Given the description of an element on the screen output the (x, y) to click on. 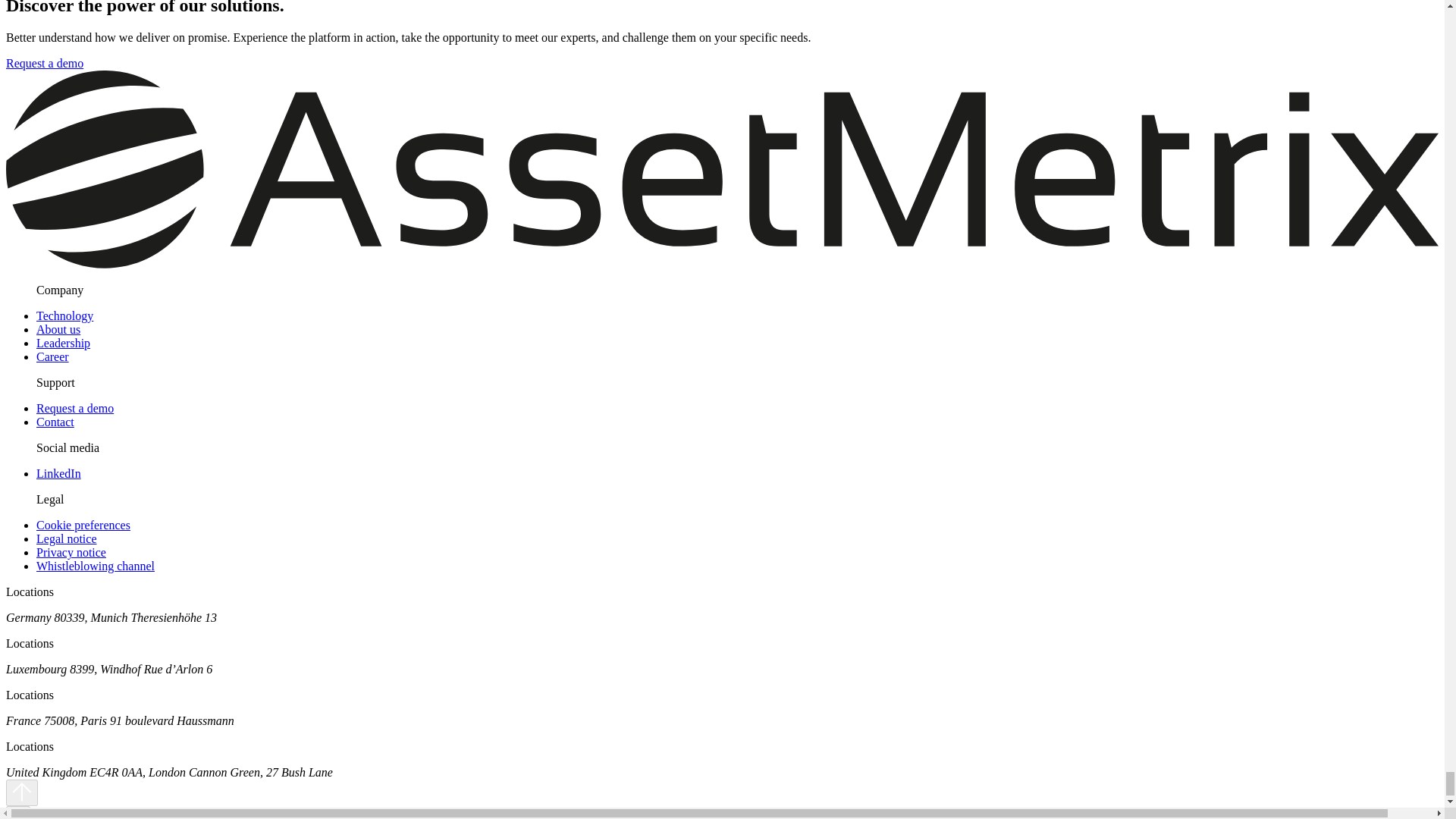
Contact (55, 421)
LinkedIn (58, 472)
Cookie preferences (83, 524)
About us (58, 328)
Request a demo (74, 408)
Career (52, 356)
Request a demo (43, 62)
Technology (64, 315)
Privacy notice (71, 552)
